Given the description of an element on the screen output the (x, y) to click on. 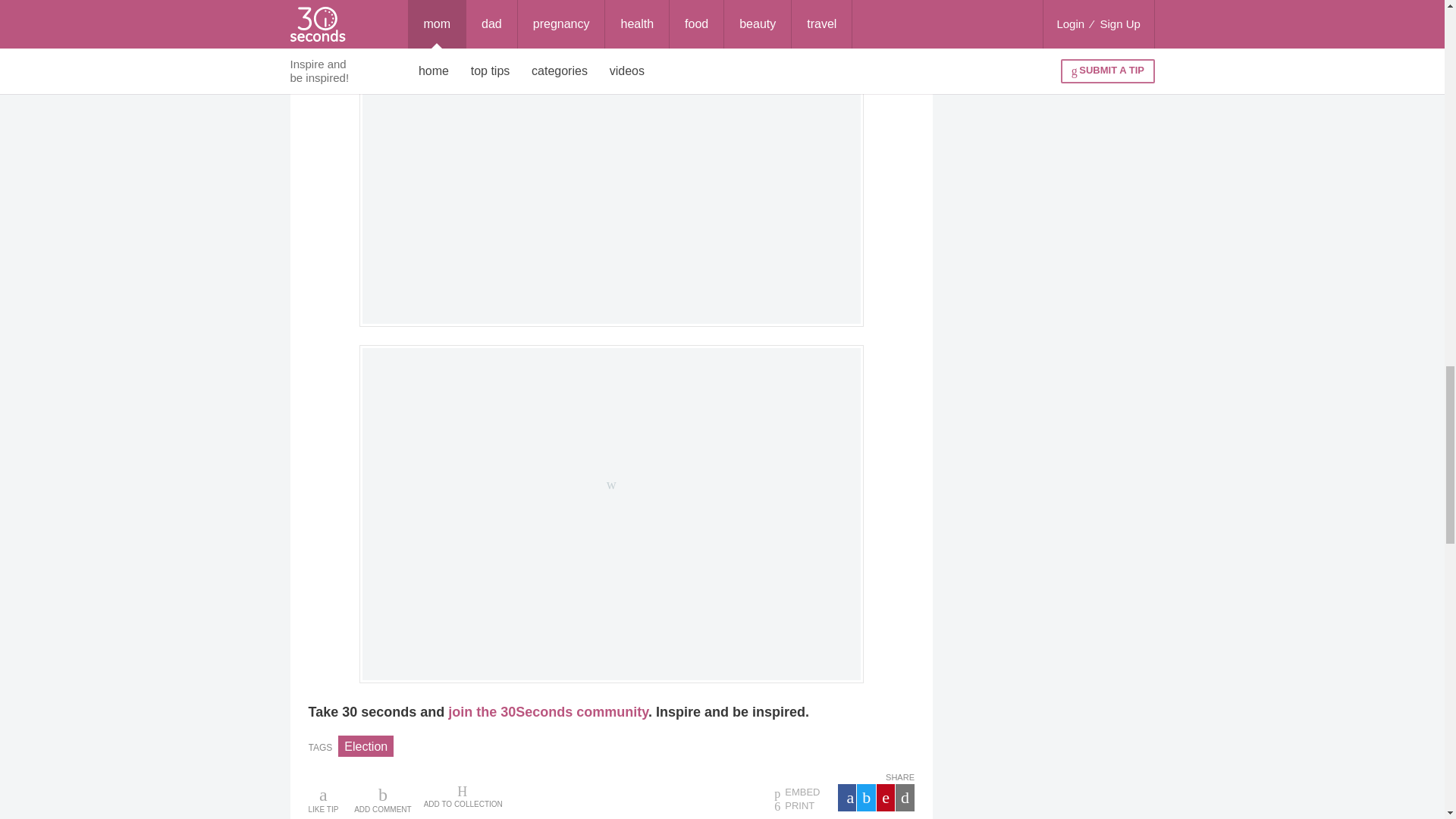
ADD COMMENT (382, 798)
